Given the description of an element on the screen output the (x, y) to click on. 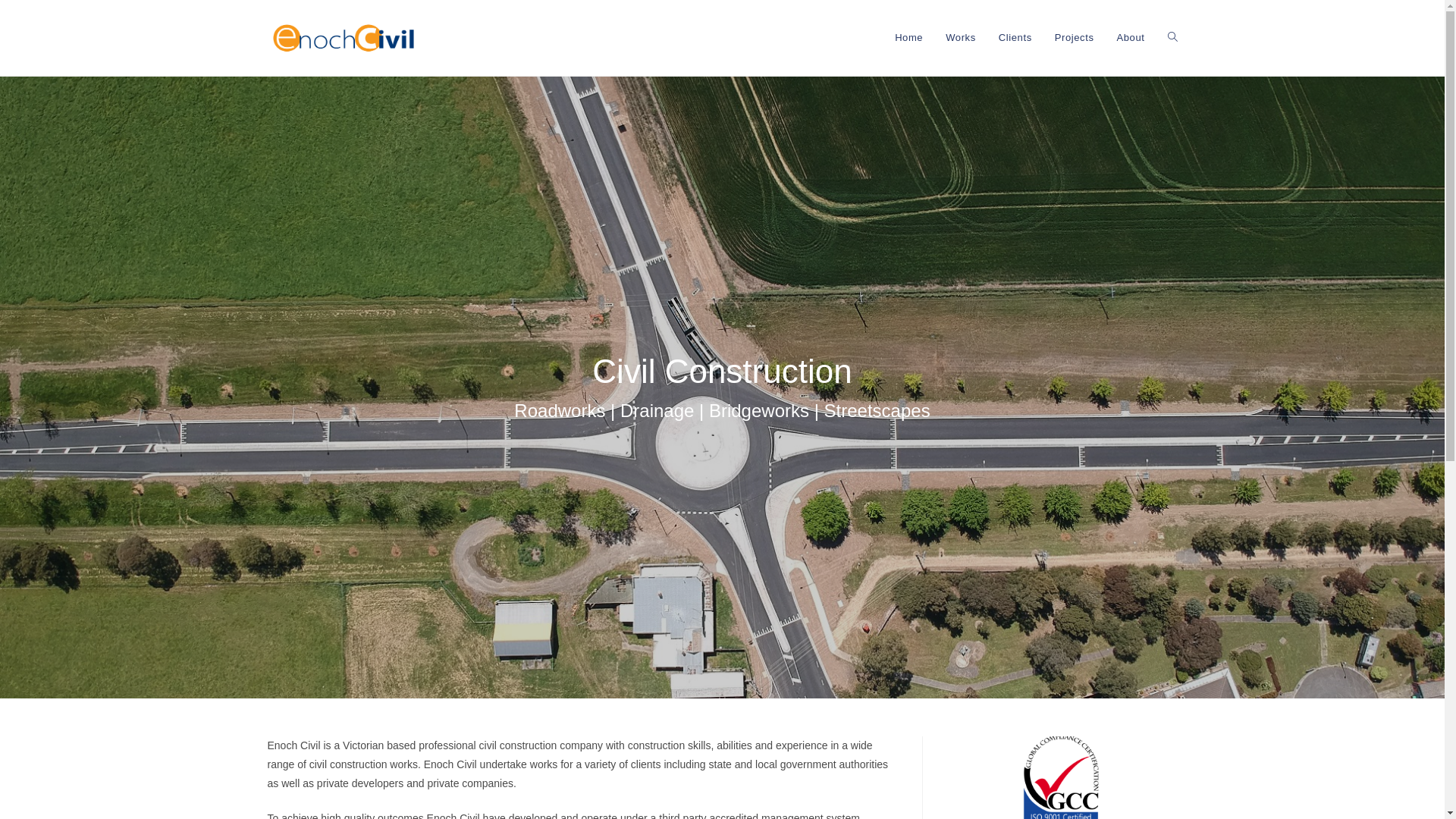
Toggle website search Element type: text (1171, 37)
Home Element type: text (908, 37)
Clients Element type: text (1015, 37)
Projects Element type: text (1074, 37)
About Element type: text (1130, 37)
Works Element type: text (960, 37)
